Given the description of an element on the screen output the (x, y) to click on. 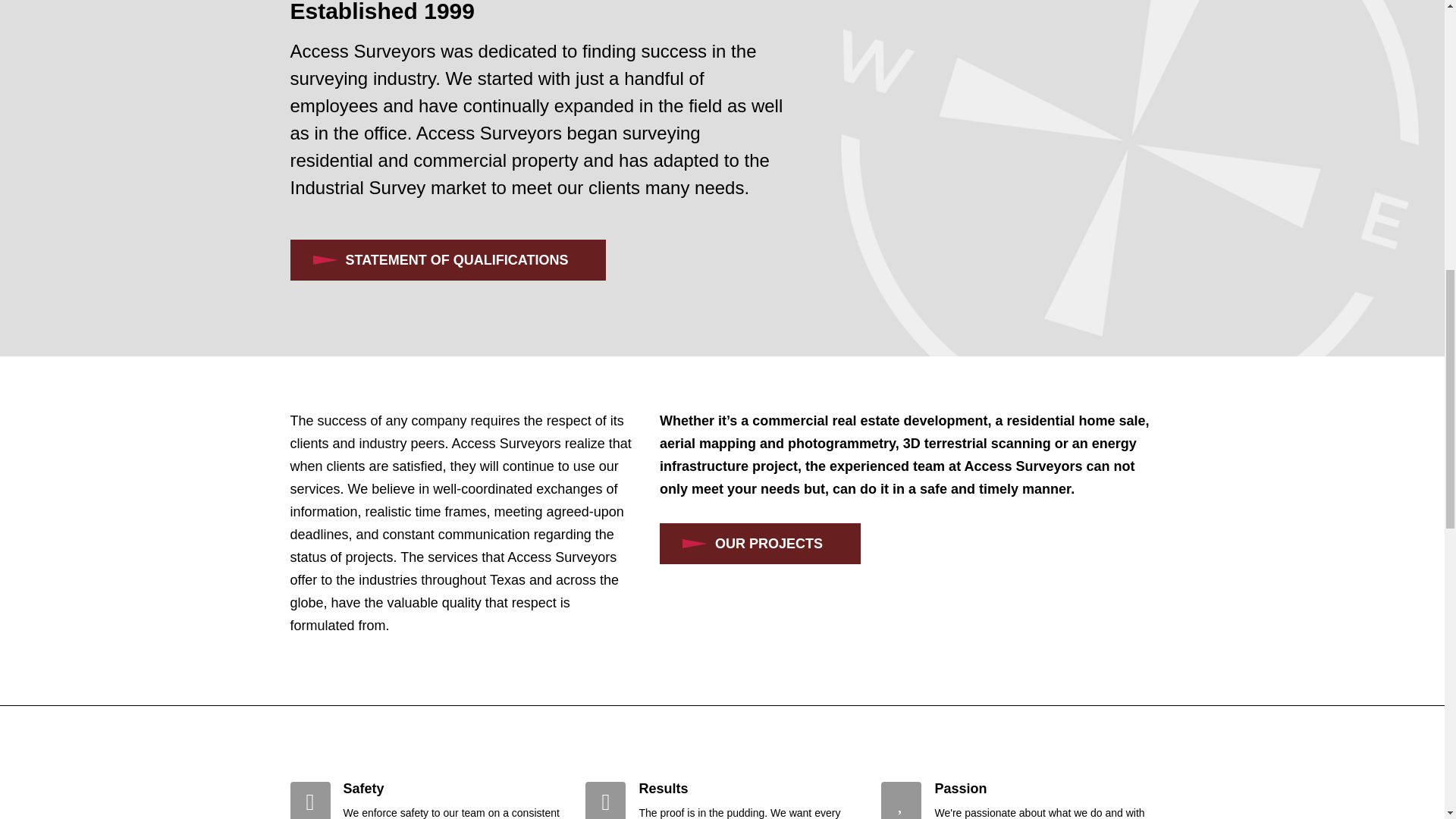
OUR PROJECTS (759, 543)
STATEMENT OF QUALIFICATIONS (447, 259)
